Given the description of an element on the screen output the (x, y) to click on. 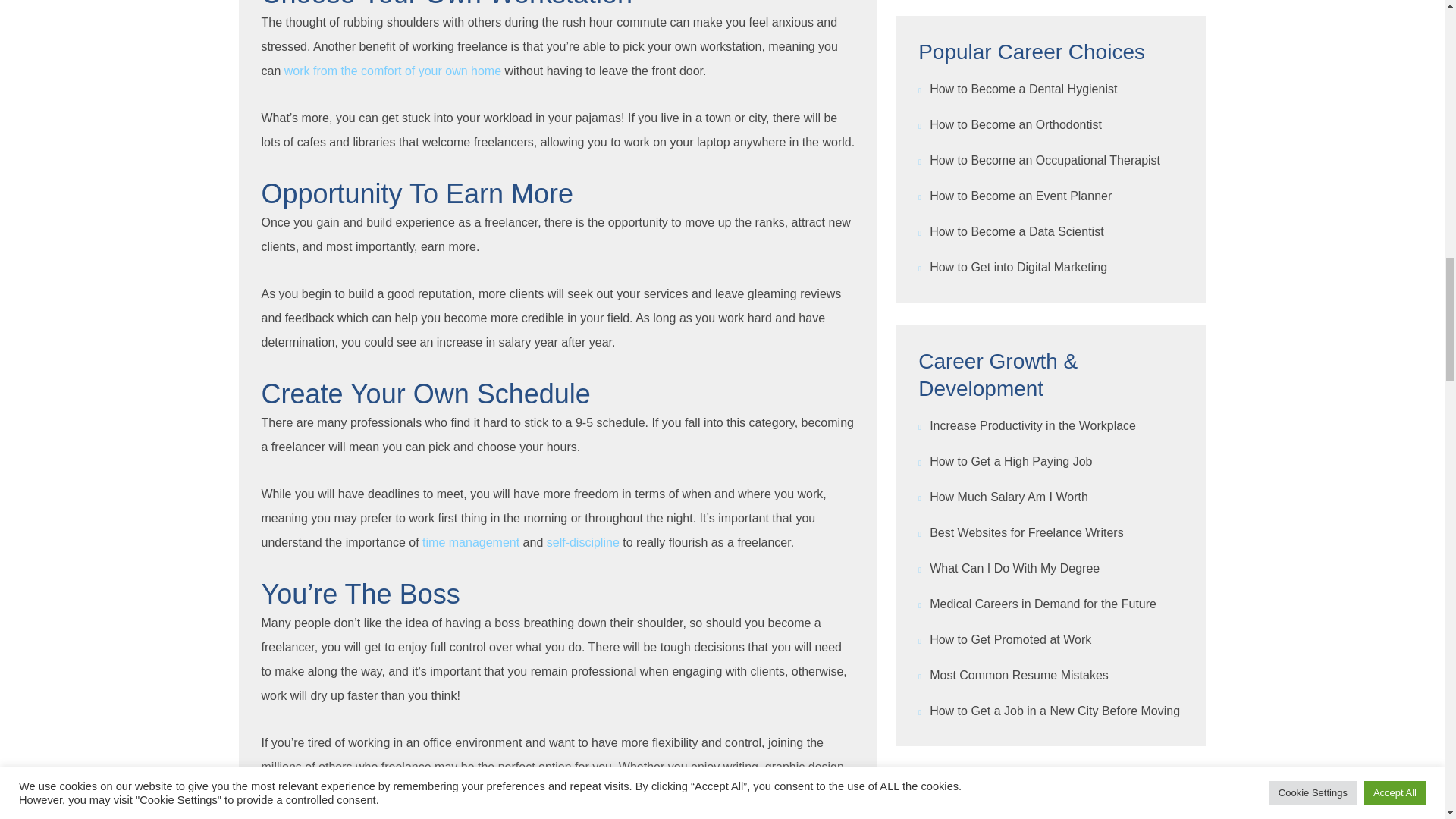
7 Best Websites for Freelance Writers to Get Projects From (494, 790)
work from the comfort of your own home (391, 70)
freelancing opportunities (494, 790)
self-discipline (583, 542)
time management (470, 542)
